Given the description of an element on the screen output the (x, y) to click on. 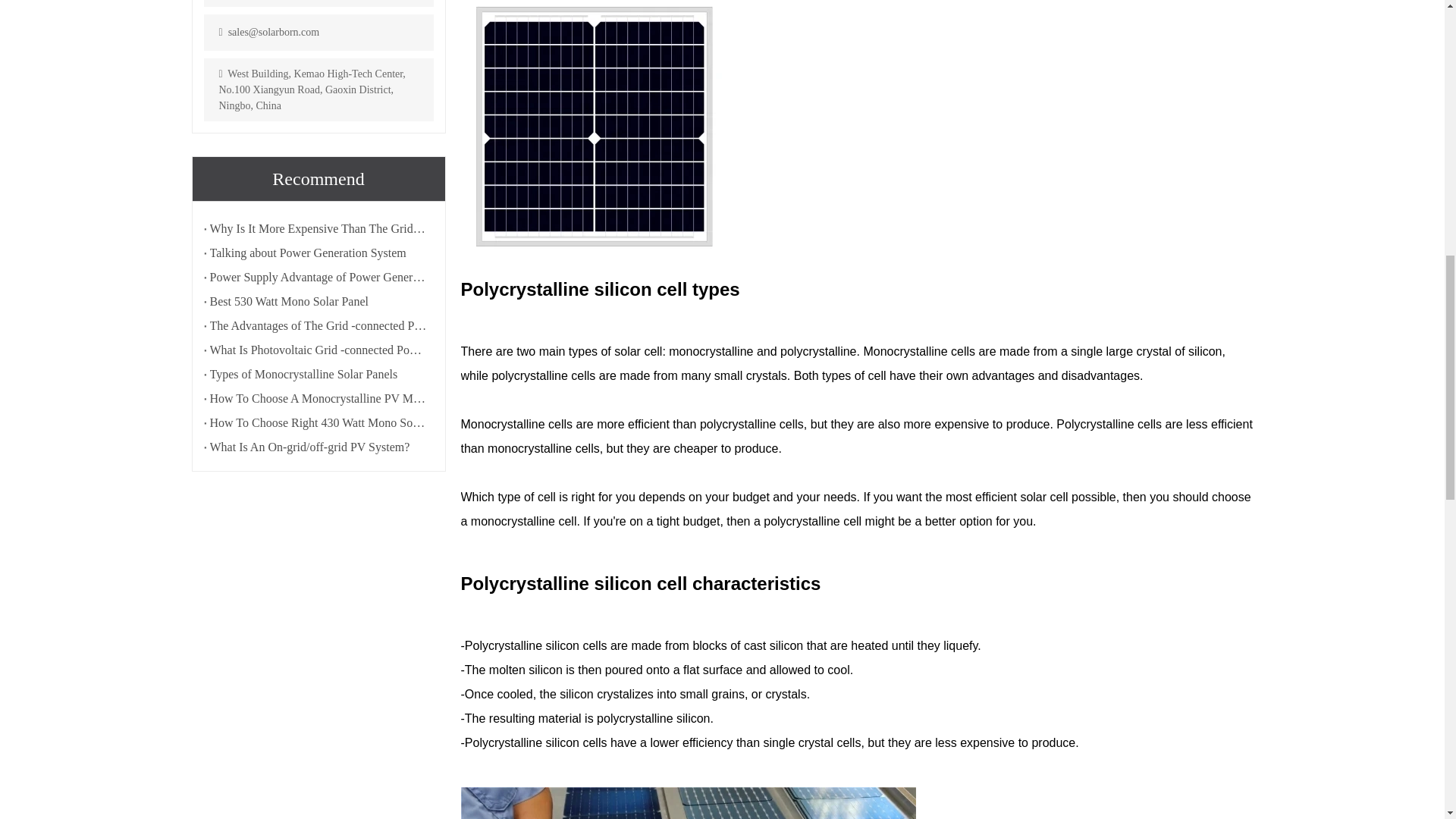
Power Supply Advantage of Power Generation Power Generation (317, 277)
Talking about Power Generation System (317, 252)
How To Choose Right 430 Watt Mono Solar Panel? (317, 422)
Types of Monocrystalline Solar Panels (317, 374)
Polycrystalline silicon cell processing (688, 803)
Best 530 Watt Mono Solar Panel (317, 301)
What Is Photovoltaic Grid -connected Power Generation (317, 350)
